Given the description of an element on the screen output the (x, y) to click on. 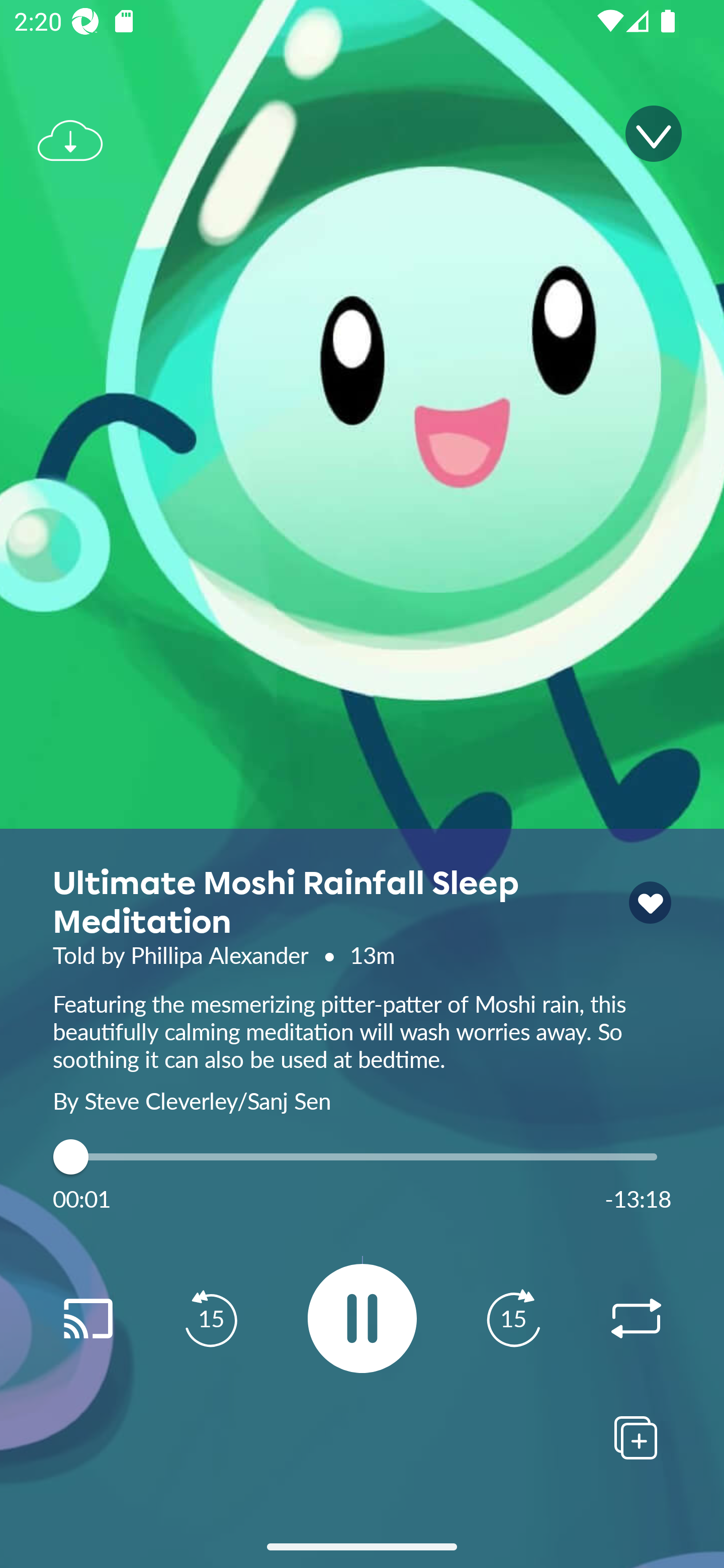
lock icon (650, 902)
0.00126375 Pause (361, 1317)
Replay (87, 1318)
Replay 15 (210, 1318)
Replay 15 (513, 1318)
Replay (635, 1318)
Add To Playlists (635, 1437)
